Given the description of an element on the screen output the (x, y) to click on. 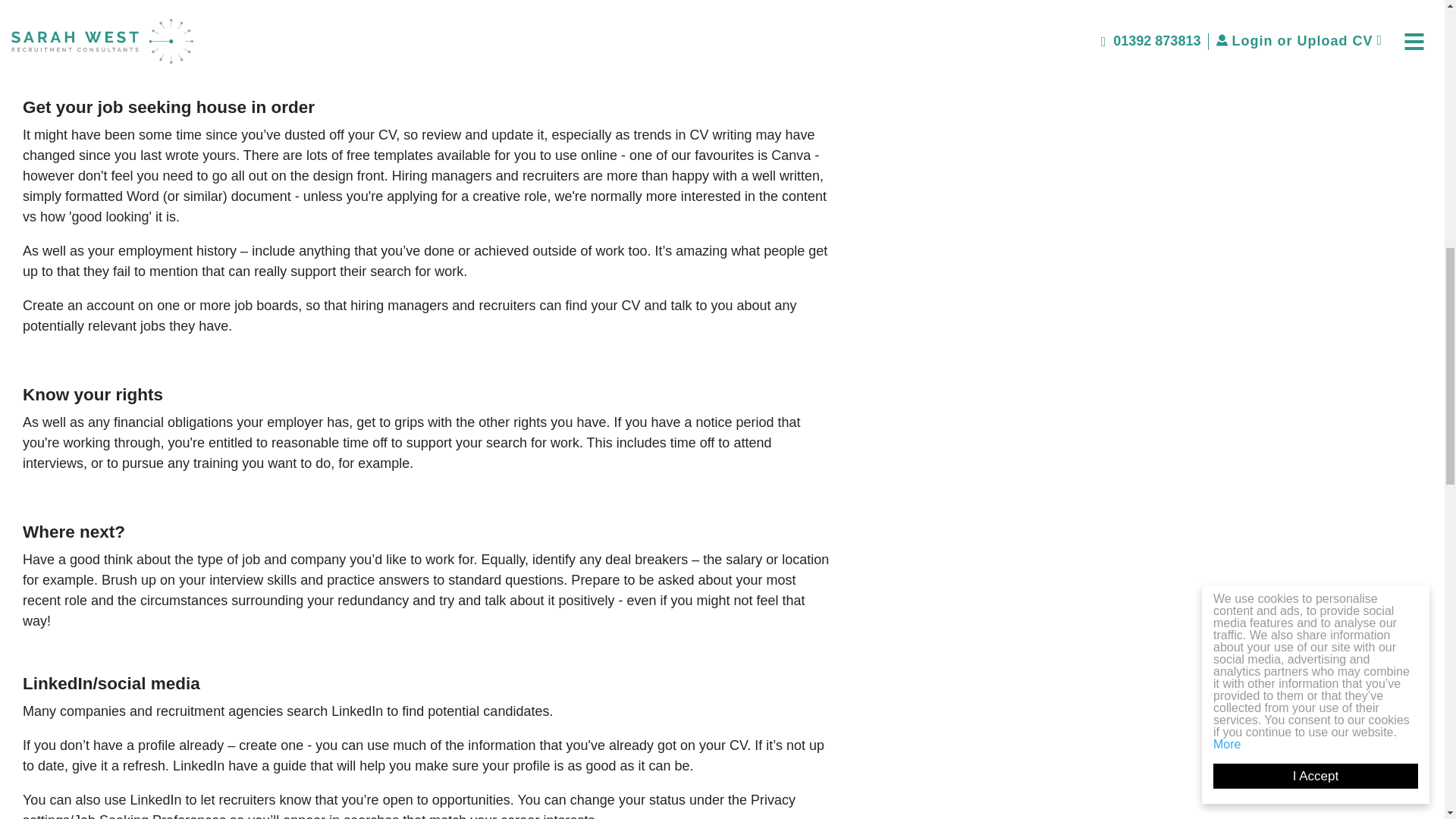
Canva (790, 155)
